Given the description of an element on the screen output the (x, y) to click on. 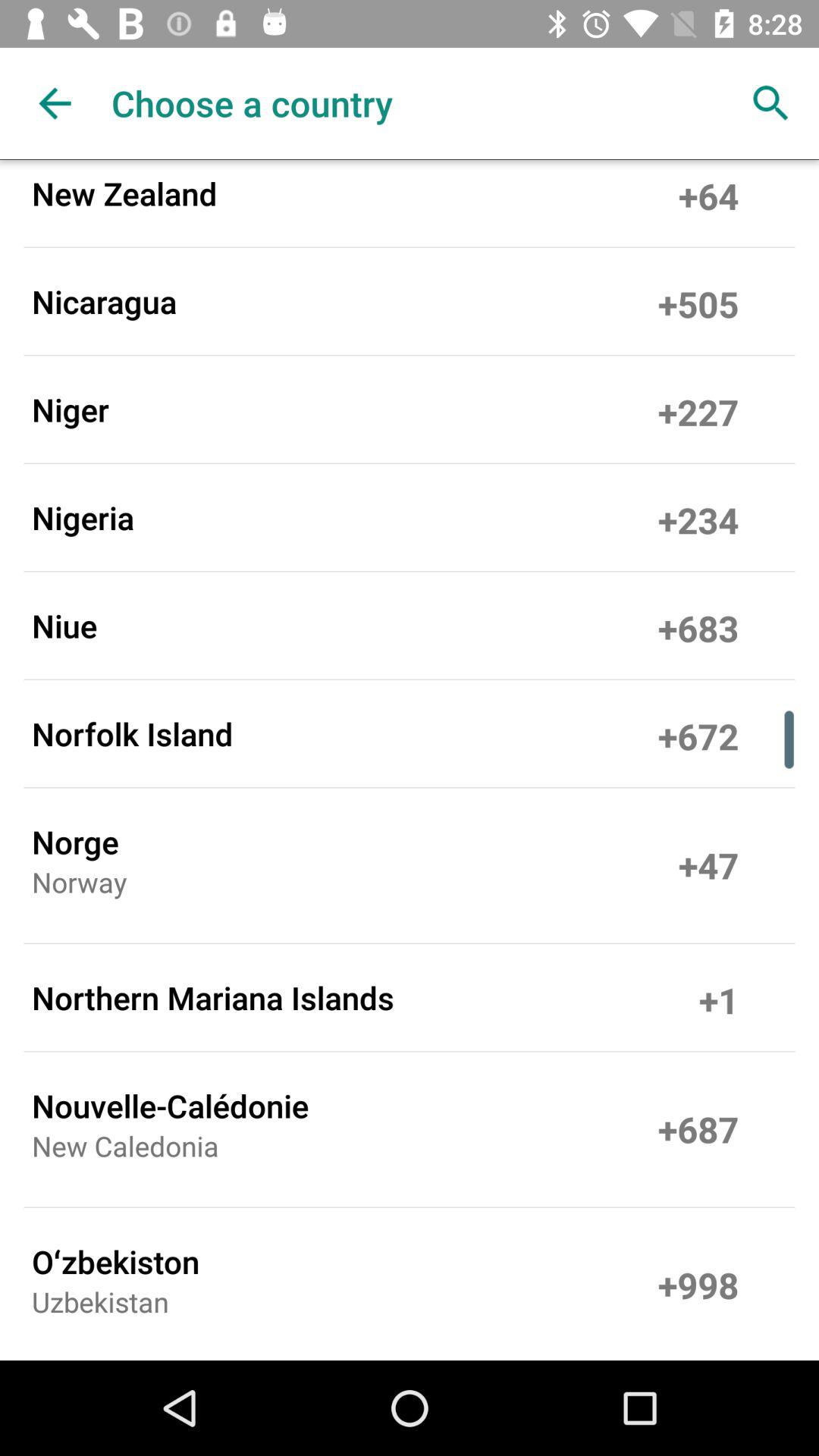
turn off icon next to the choose a country (55, 103)
